Given the description of an element on the screen output the (x, y) to click on. 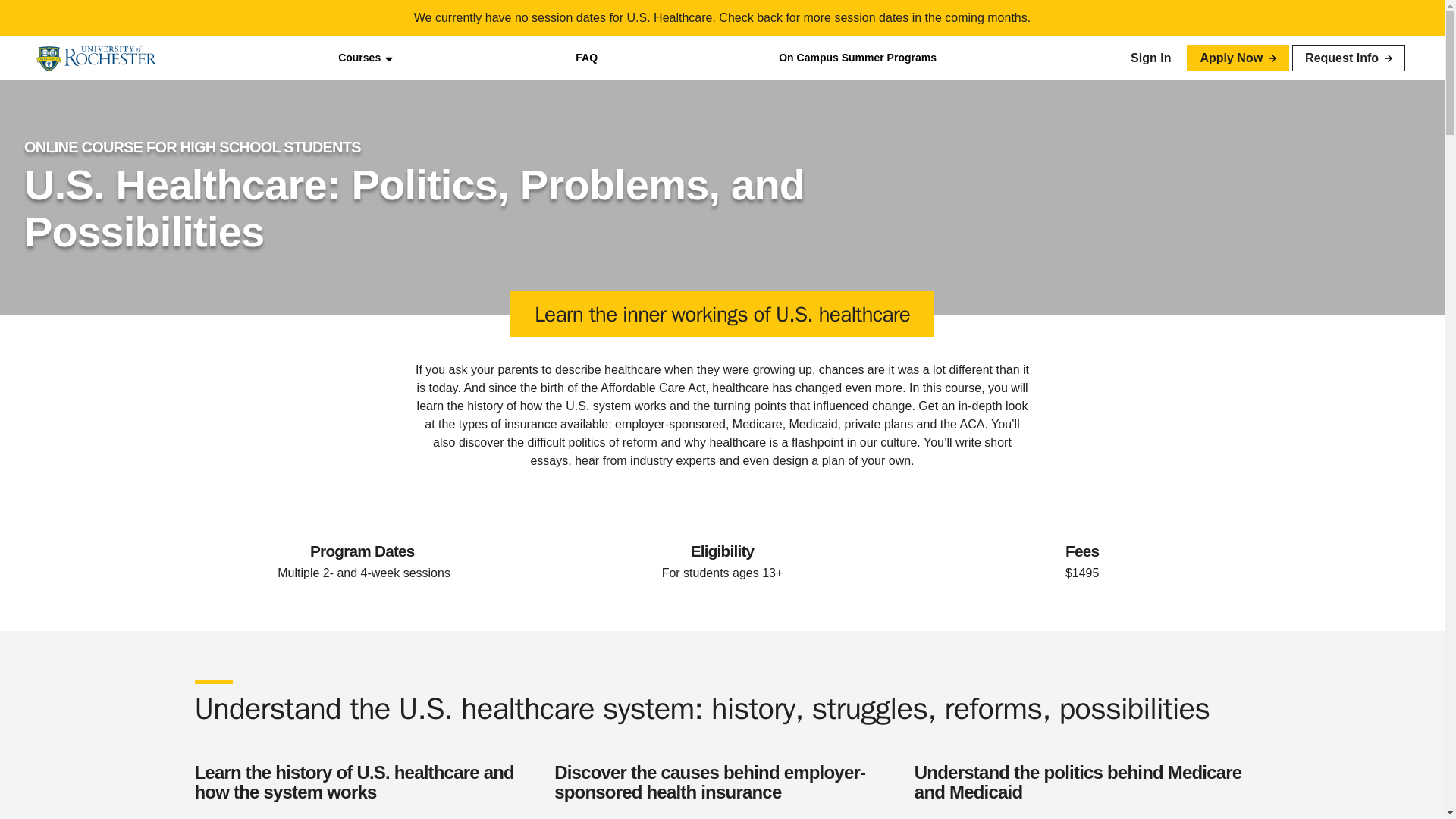
Video Game Design (418, 271)
STEM Courses (418, 219)
On Campus Summer Programs (857, 57)
Biomedical Engineering (418, 245)
FAQ (585, 57)
Home (96, 57)
Orthopedic Medicine (418, 155)
Request Info (1348, 58)
Sign In (1150, 58)
Medicine Courses (418, 104)
Medicine (418, 130)
Apply Now (1237, 58)
U.S. Healthcare (418, 182)
